Given the description of an element on the screen output the (x, y) to click on. 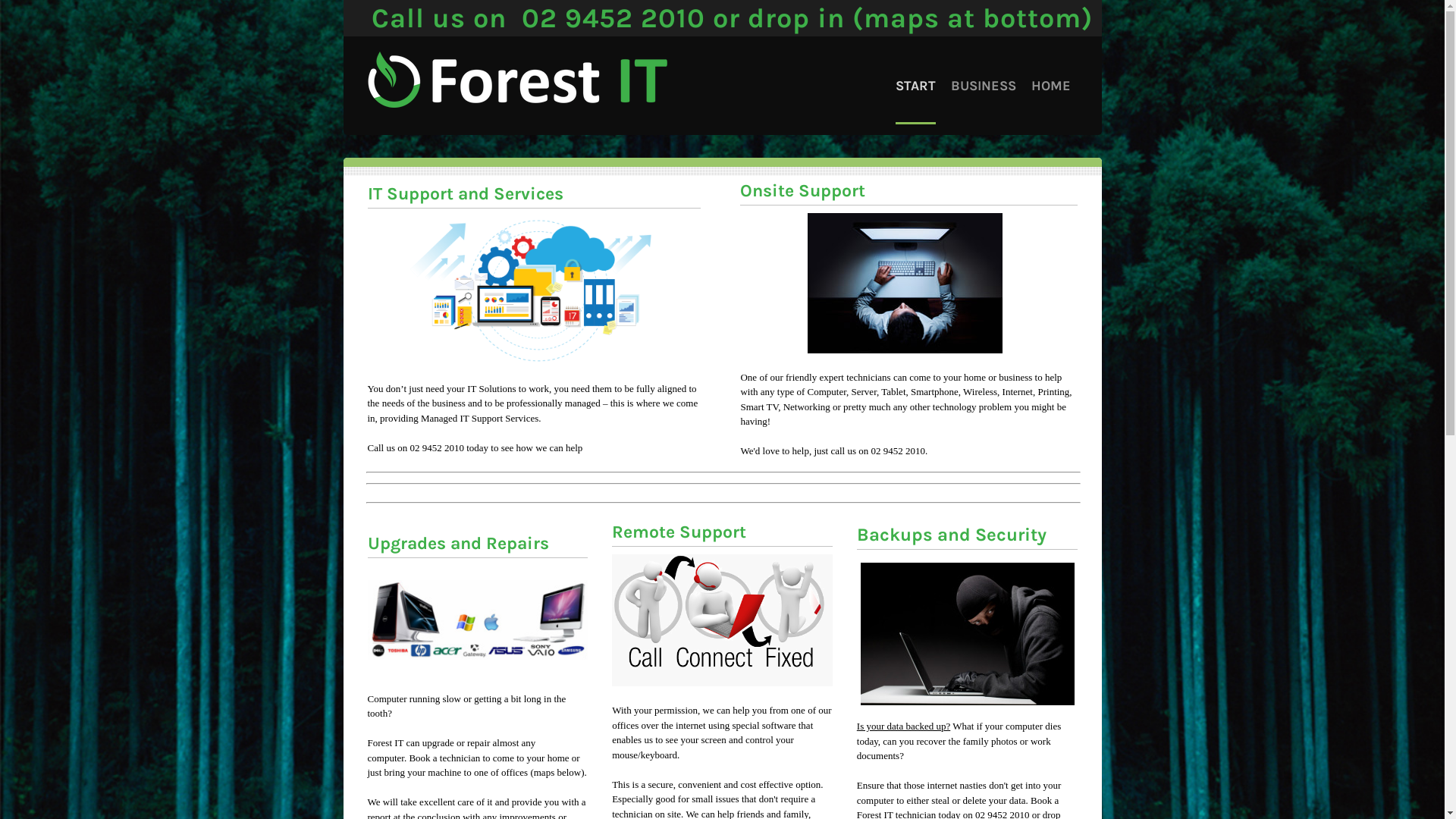
Upgrades and Repairs Element type: text (457, 543)
BUSINESS Element type: text (983, 85)
Onsite Support Element type: text (802, 190)
START Element type: text (914, 85)
HOME Element type: text (1050, 85)
Backups and Security Element type: text (951, 534)
IT Support and Services Element type: text (464, 193)
Remote Support Element type: text (678, 531)
